Given the description of an element on the screen output the (x, y) to click on. 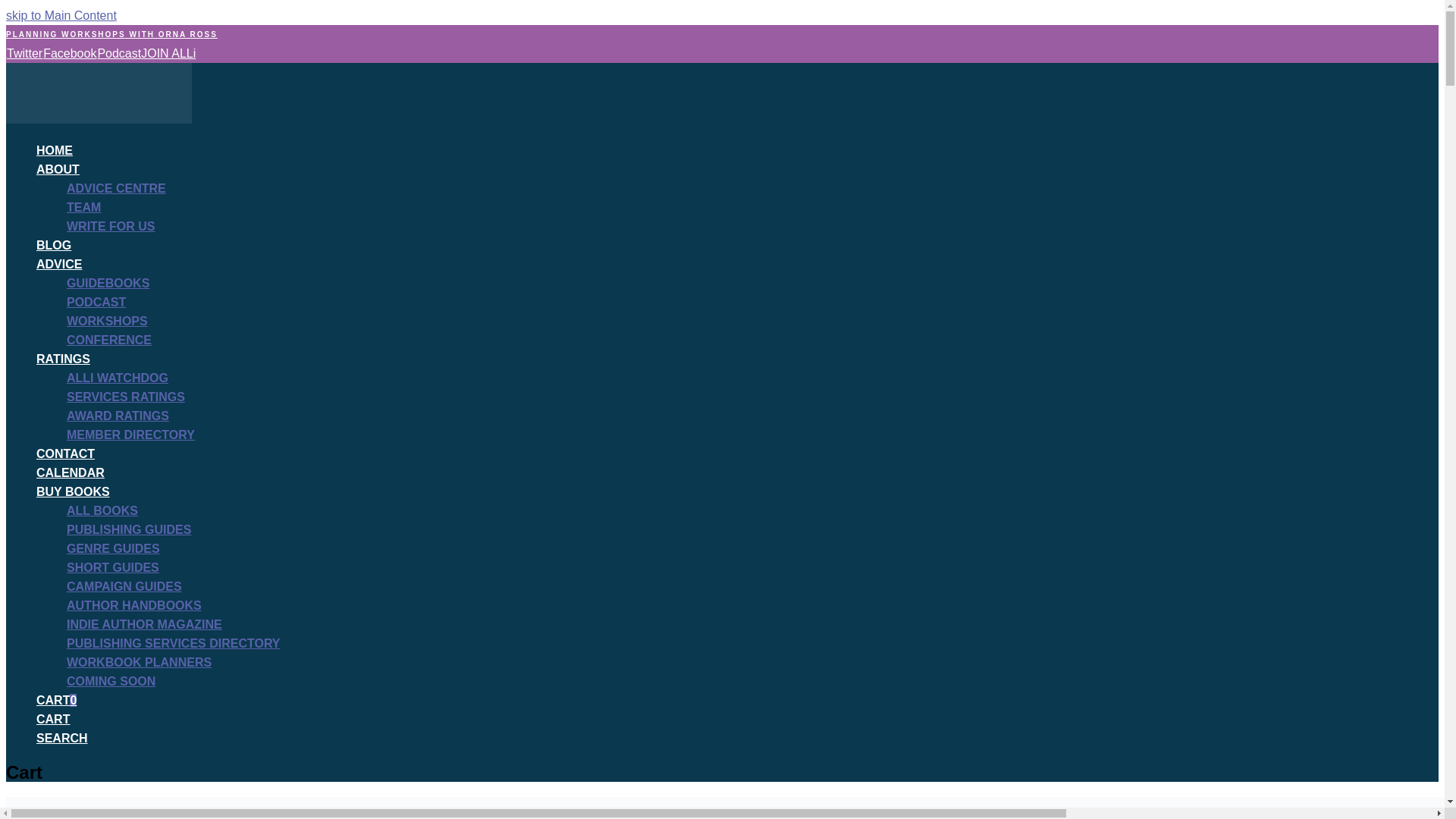
ADVICE (58, 264)
Facebook (69, 52)
AWARD RATINGS (117, 415)
TEAM (83, 206)
SHORT GUIDES (112, 567)
WRITE FOR US (110, 226)
ADVICE CENTRE (115, 187)
INDIE AUTHOR MAGAZINE (144, 624)
RATINGS (63, 358)
CONFERENCE (108, 339)
AUTHOR HANDBOOKS (134, 604)
JOIN ALLi (168, 52)
Facebook (69, 52)
COMING SOON (110, 680)
